Given the description of an element on the screen output the (x, y) to click on. 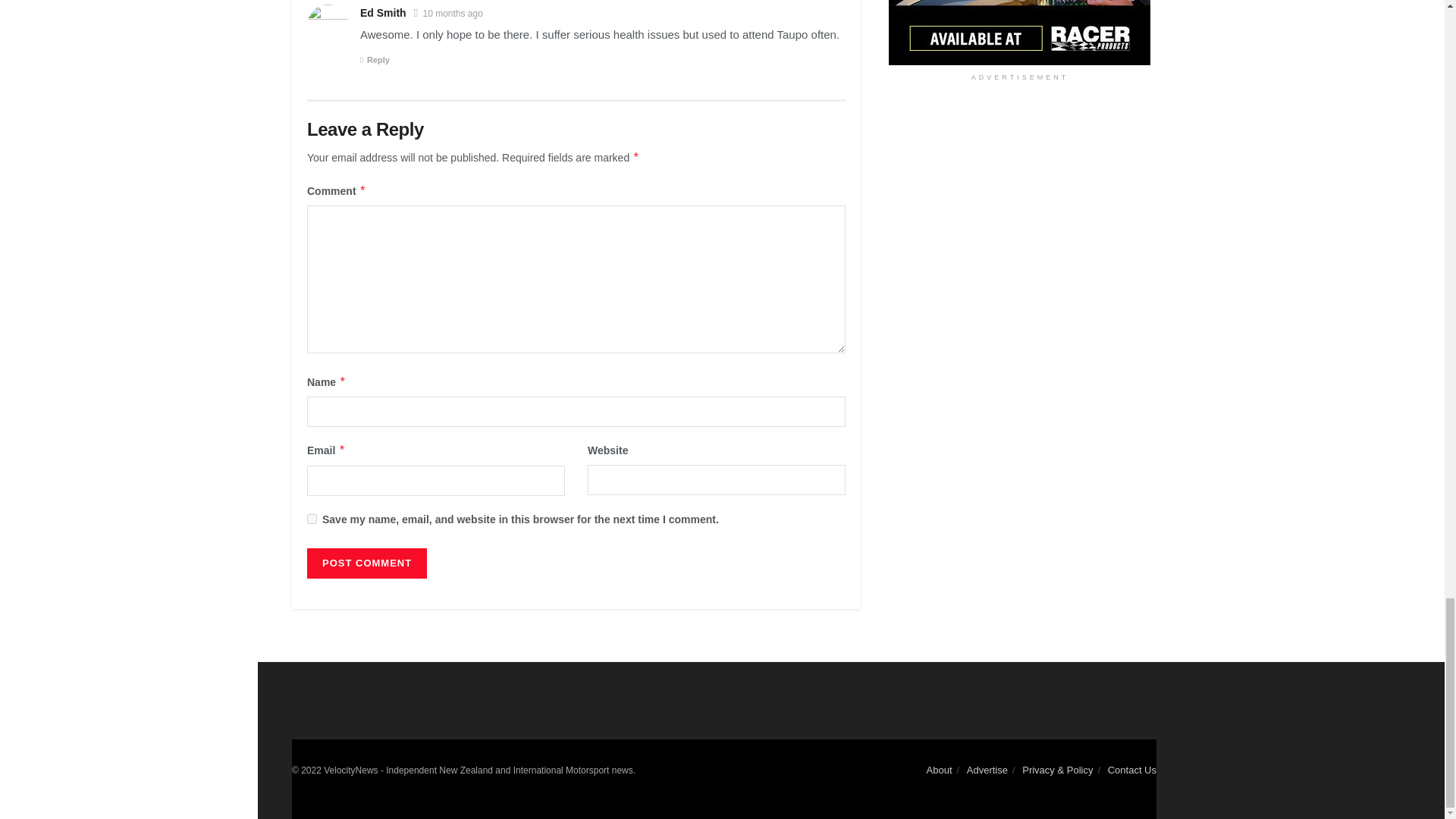
yes (312, 519)
Post Comment (366, 562)
